Given the description of an element on the screen output the (x, y) to click on. 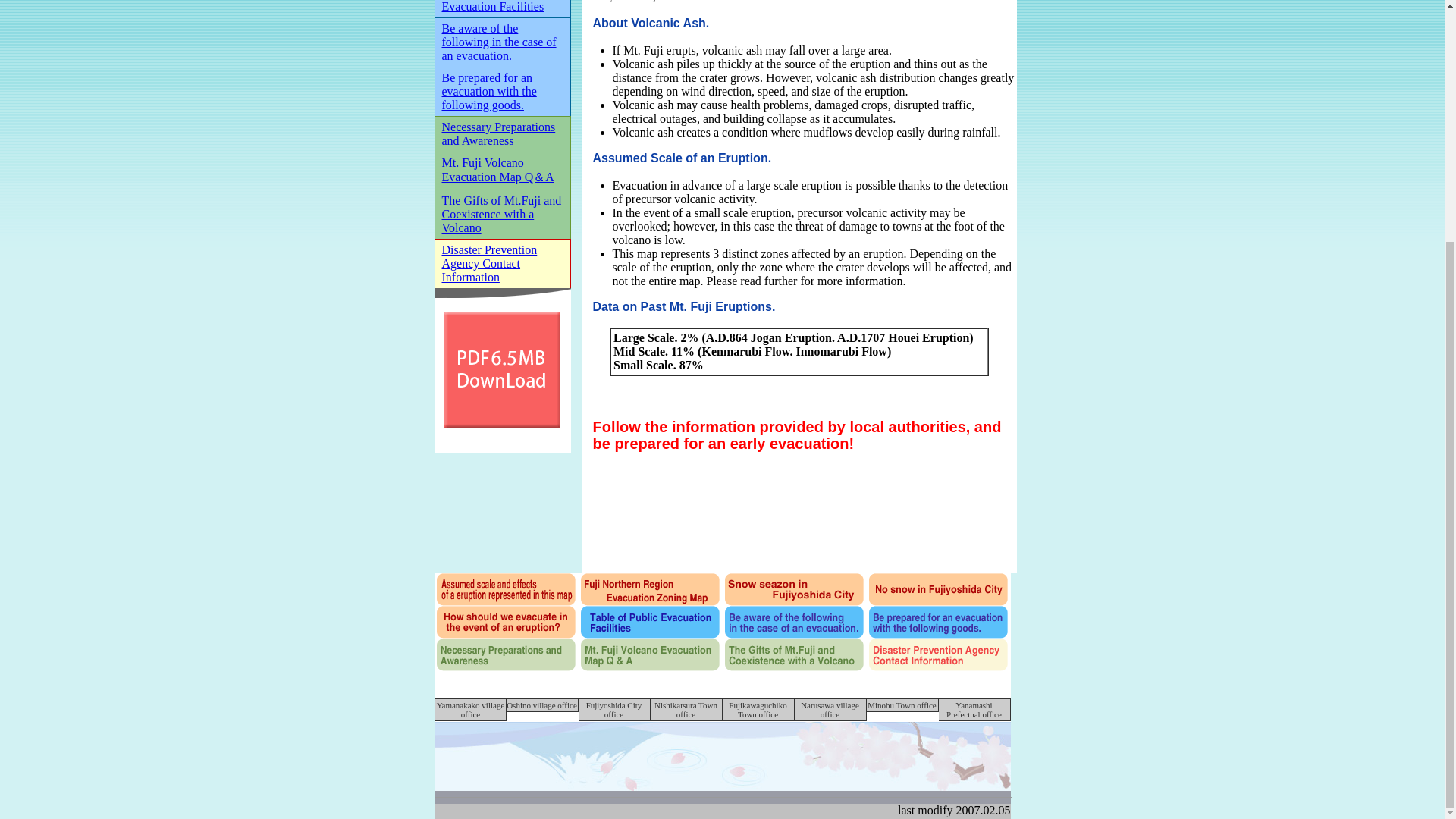
Narusawa village office (830, 709)
Oshino village office (542, 705)
The Gifts of Mt.Fuji and Coexistence with a Volcano (500, 214)
Be aware of the following in the case of an evacuation. (498, 42)
Yanamashi Prefectual office (974, 709)
Yamanakako village office (470, 709)
Nishikatsura Town office (686, 709)
Table of Public Evacuation Facilities (492, 6)
Disaster Prevention Agency Contact Information (489, 263)
Minobu Town office (901, 705)
